Given the description of an element on the screen output the (x, y) to click on. 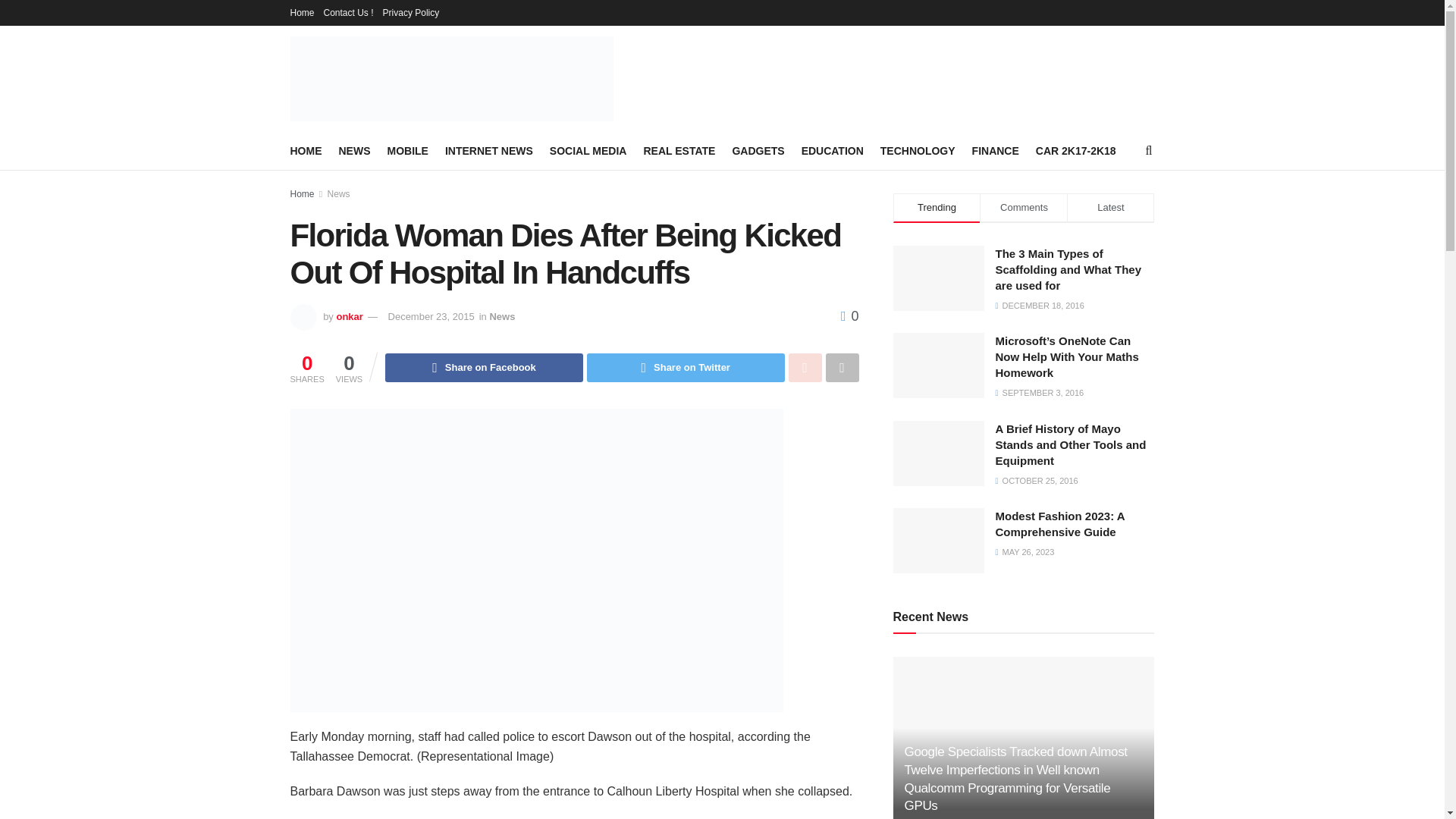
SOCIAL MEDIA (588, 150)
REAL ESTATE (678, 150)
Home (301, 194)
HOME (305, 150)
FINANCE (995, 150)
0 (850, 315)
MOBILE (407, 150)
December 23, 2015 (431, 316)
CAR 2K17-2K18 (1075, 150)
GADGETS (758, 150)
